Given the description of an element on the screen output the (x, y) to click on. 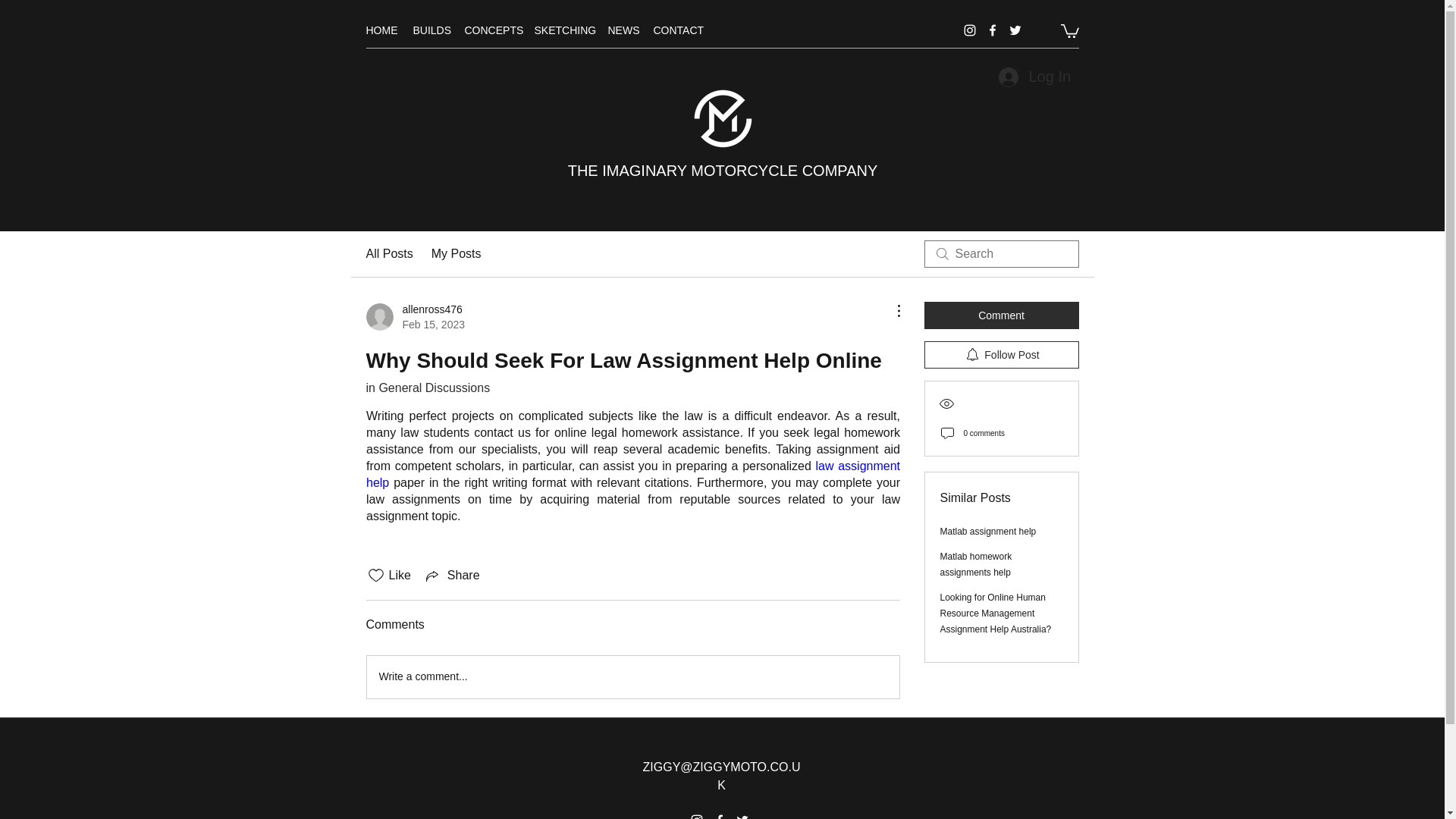
Matlab homework assignments help (975, 564)
NEWS (622, 29)
Comment (1000, 315)
Share (451, 575)
Follow Post (1000, 354)
Write a comment... (632, 677)
SKETCHING (562, 29)
BUILDS (430, 29)
in General Discussions (427, 387)
Log In (1032, 77)
CONTACT (678, 29)
All Posts (414, 317)
My Posts (388, 253)
